Given the description of an element on the screen output the (x, y) to click on. 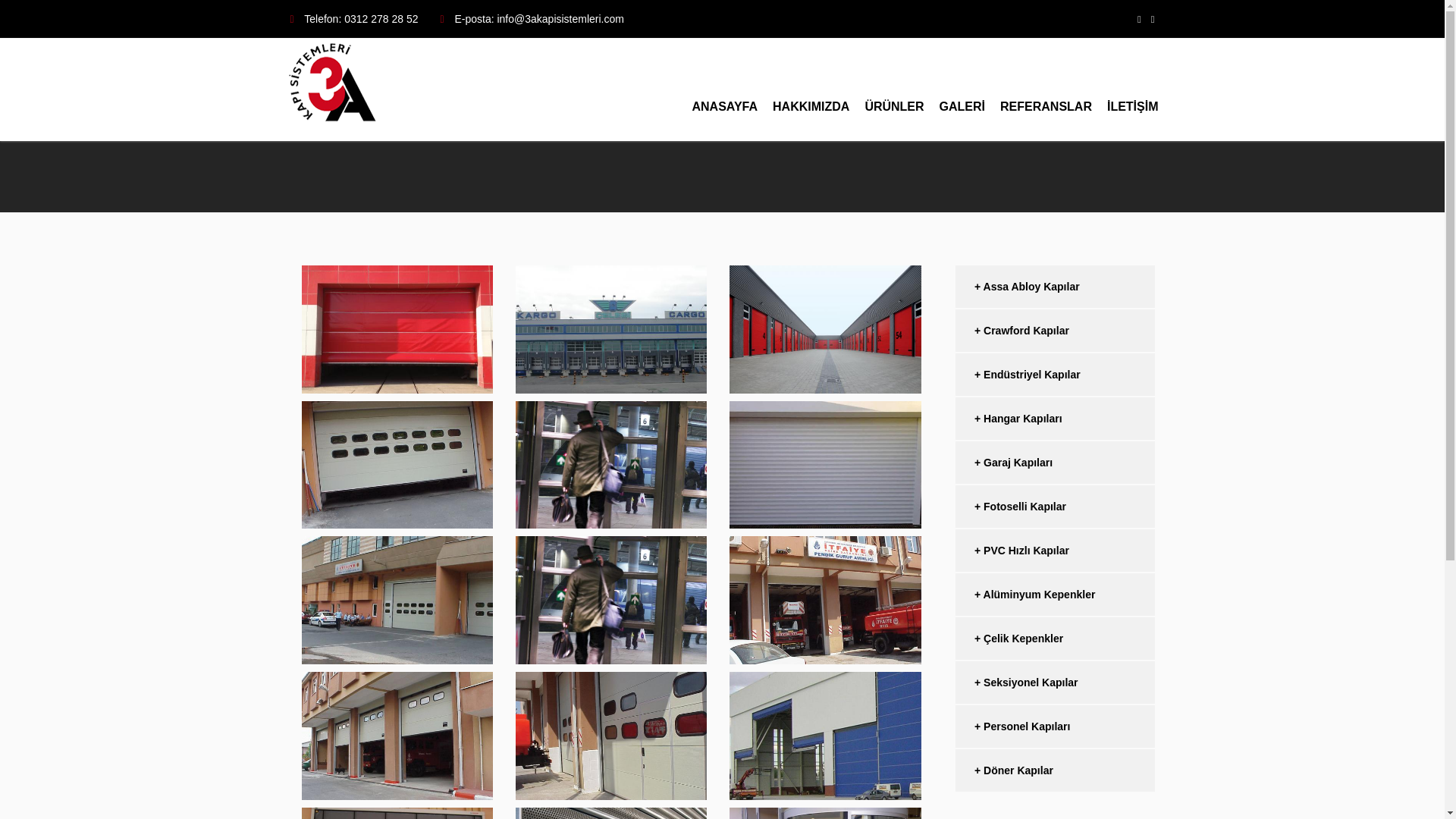
REFERANSLAR Element type: text (1045, 89)
ANASAYFA Element type: text (724, 89)
HAKKIMIZDA Element type: text (810, 89)
